Given the description of an element on the screen output the (x, y) to click on. 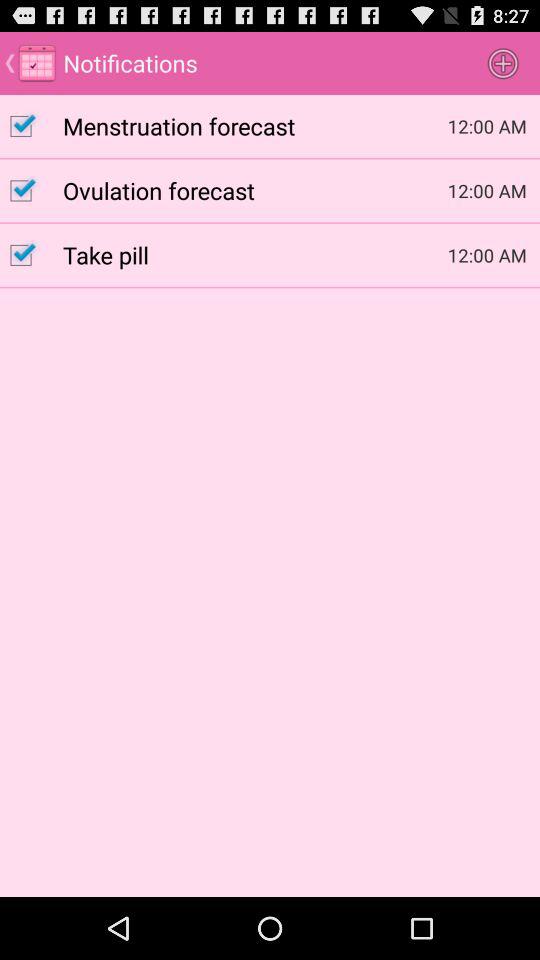
open item next to 12:00 am app (255, 125)
